Given the description of an element on the screen output the (x, y) to click on. 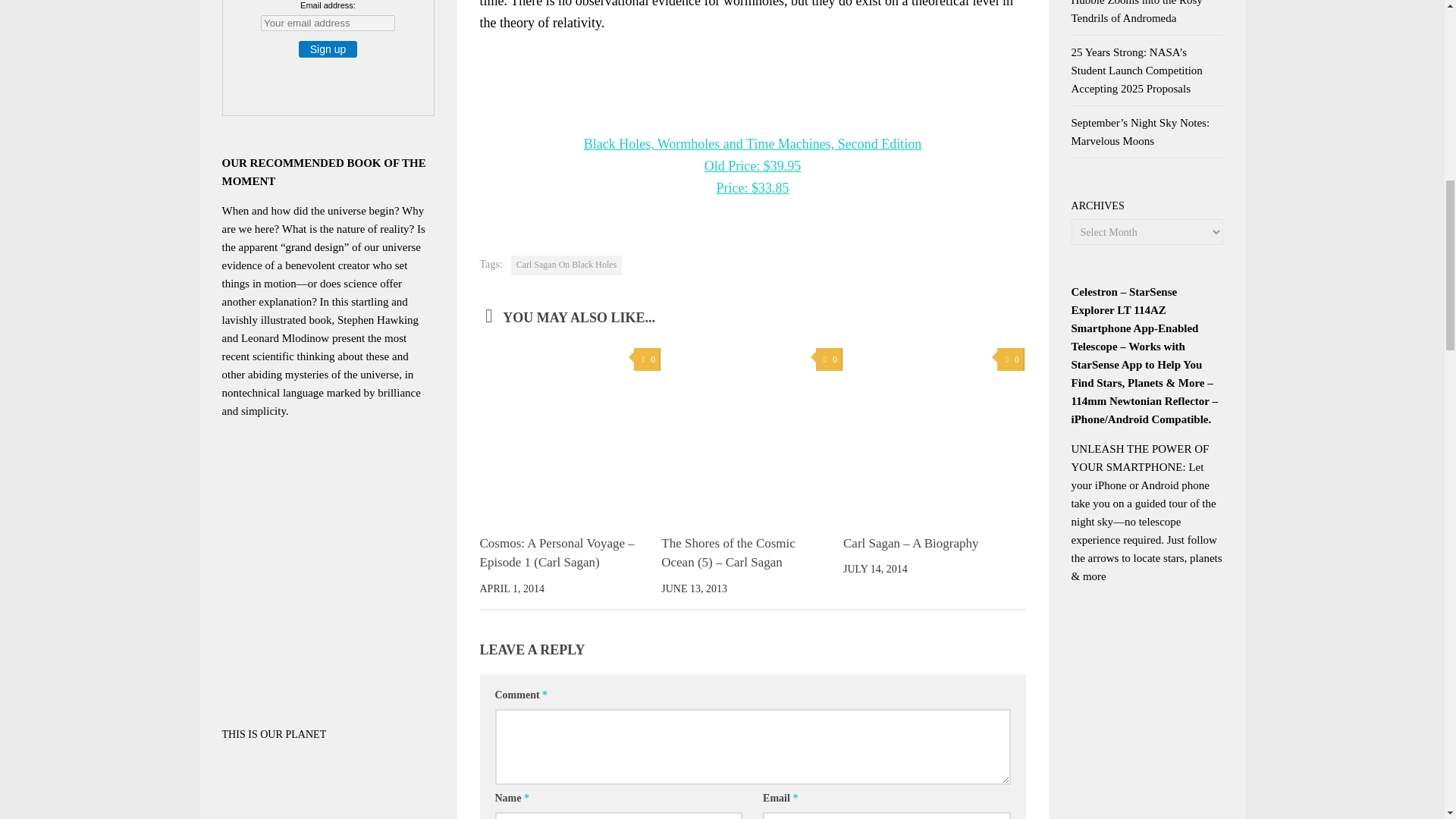
Black Holes, Wormholes and Time Machines, Second Edition (752, 122)
Black Holes, Wormholes and Time Machines, Second Edition (752, 143)
Black Holes, Wormholes and Time Machines, Second Edition (753, 176)
Sign up (327, 48)
